Given the description of an element on the screen output the (x, y) to click on. 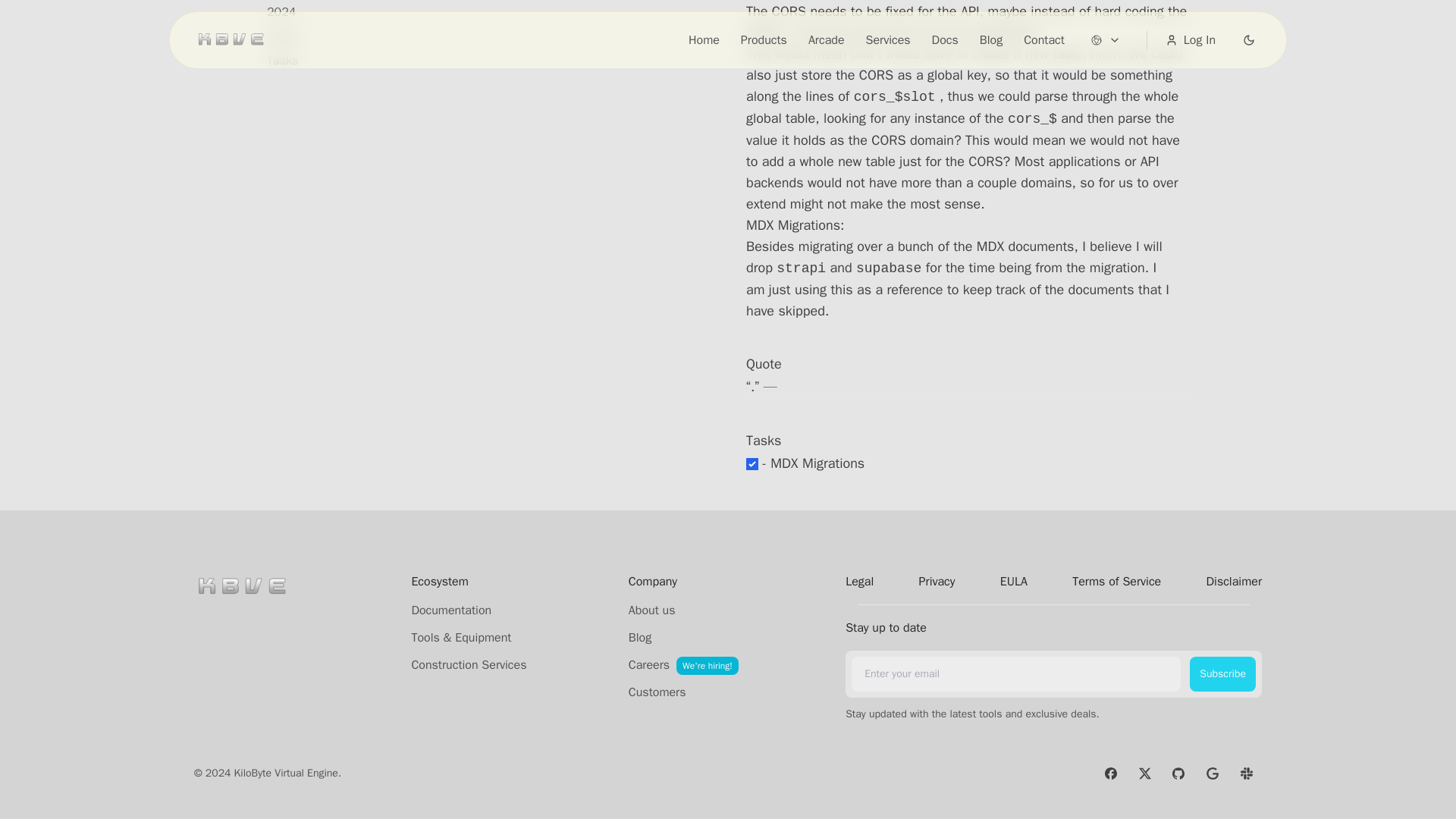
Tasks (282, 60)
Legal (859, 581)
About us (651, 610)
Disclaimer (1232, 581)
Blog (639, 637)
2024 (280, 12)
Privacy (936, 581)
Careers (648, 665)
Construction Services (467, 665)
Quote (282, 36)
EULA (1013, 581)
Customers (656, 692)
Terms of Service (1115, 581)
Subscribe (1222, 673)
Documentation (451, 610)
